Given the description of an element on the screen output the (x, y) to click on. 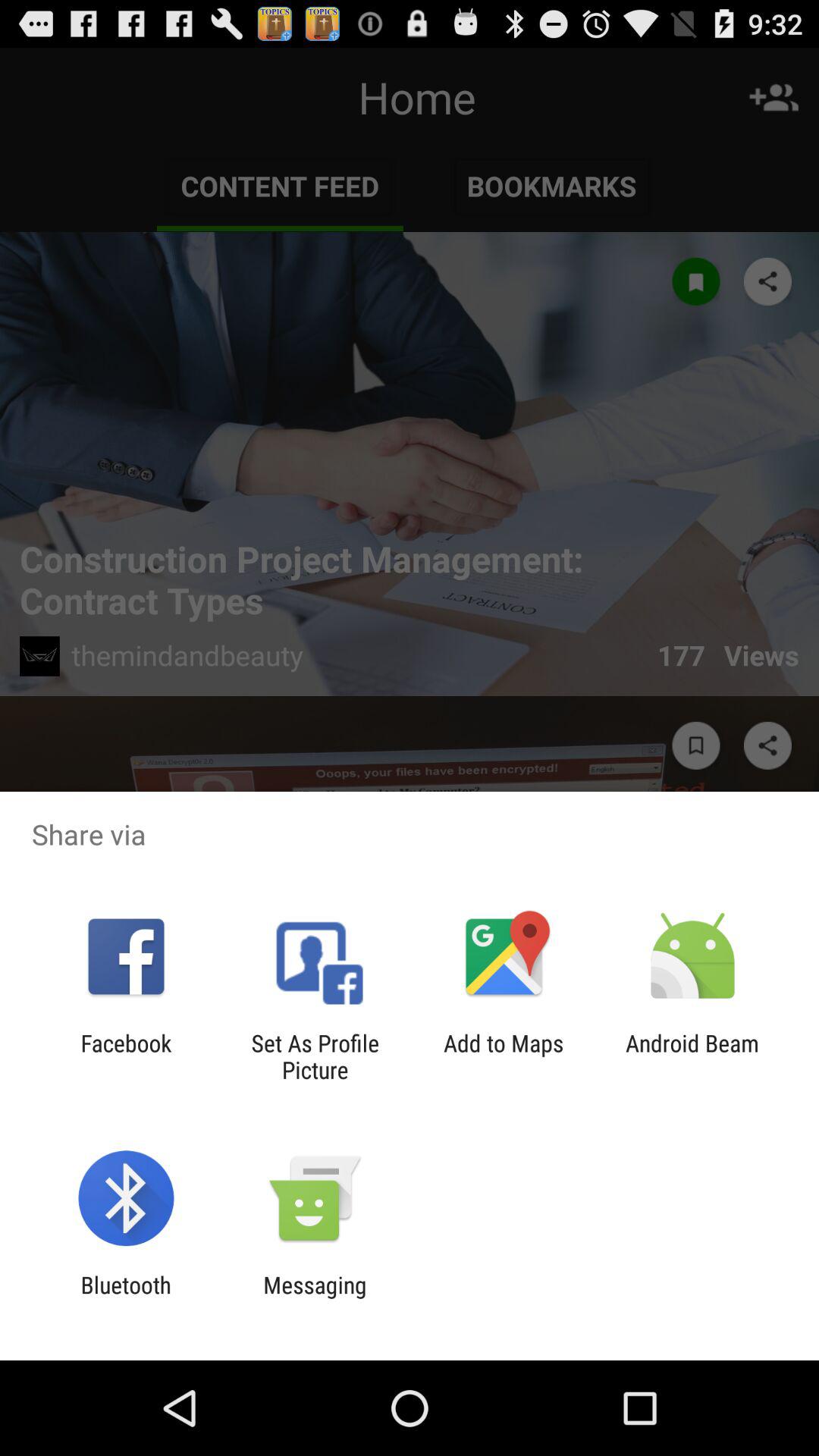
select icon to the right of bluetooth (314, 1298)
